Given the description of an element on the screen output the (x, y) to click on. 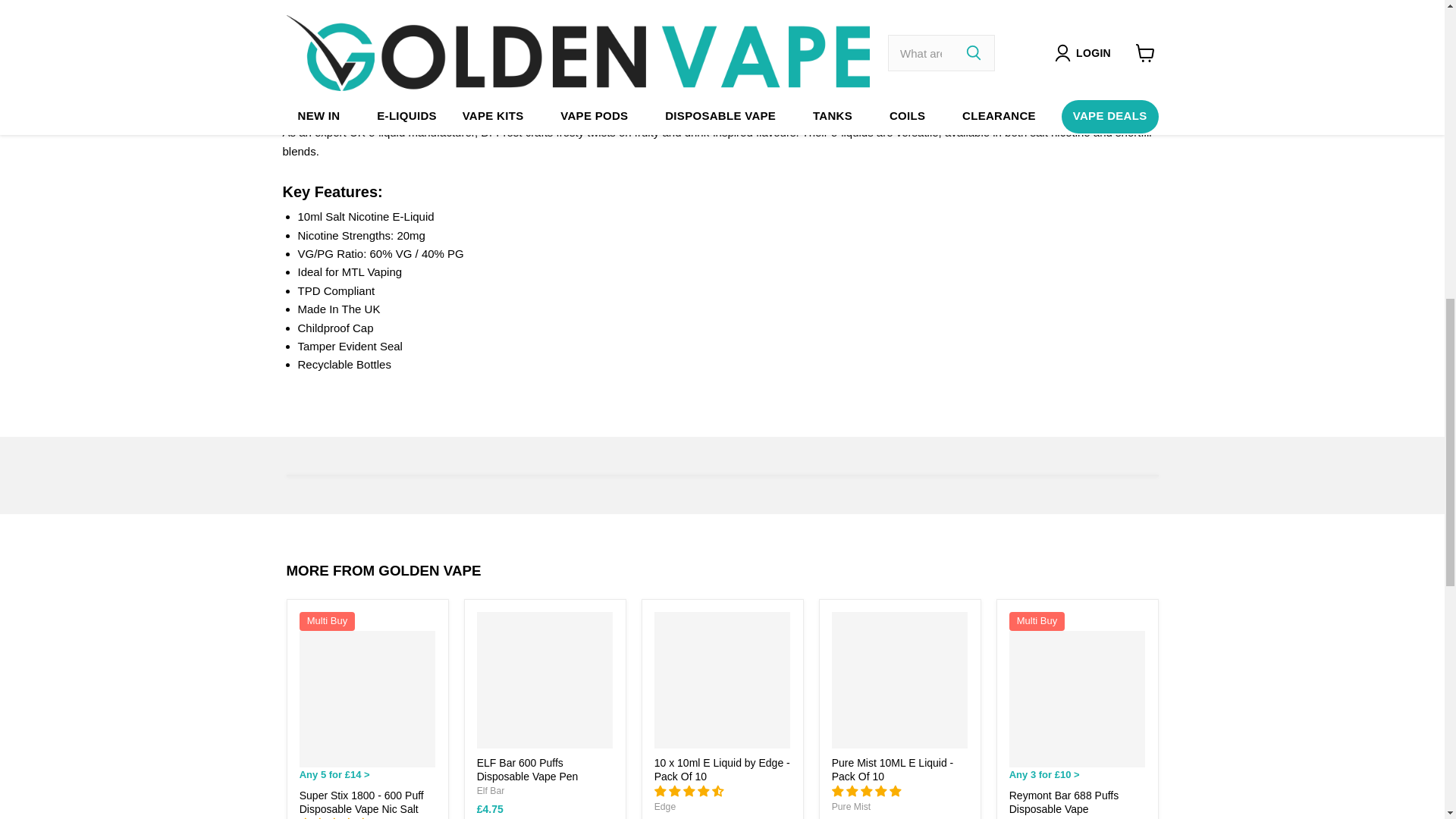
Elf Bar (491, 790)
Edge (664, 806)
Pure Mist (850, 806)
